Given the description of an element on the screen output the (x, y) to click on. 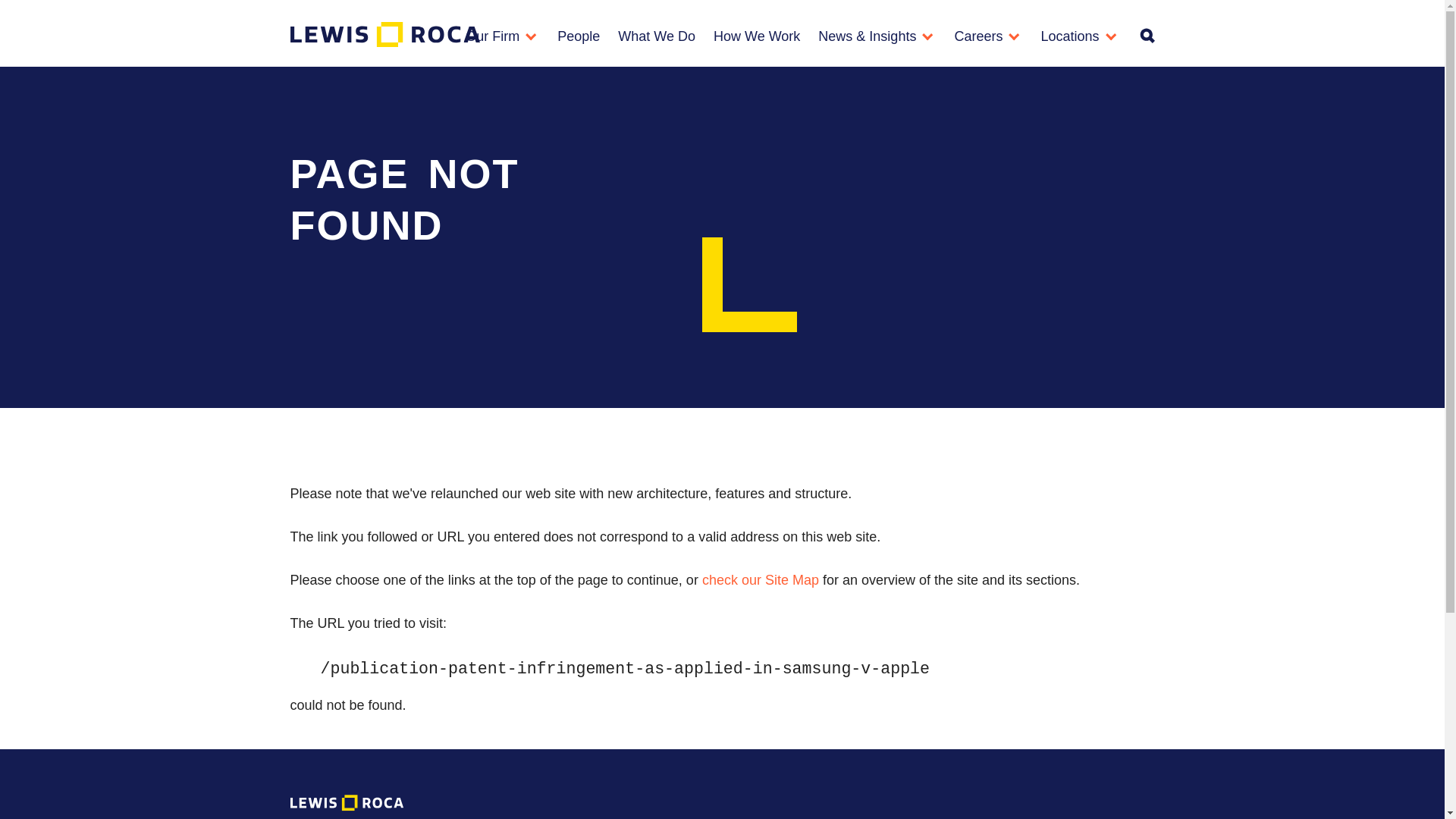
Main Menu (676, 17)
People (578, 43)
Menu (676, 17)
Our Firm (502, 43)
How We Work (756, 43)
Main Content (669, 17)
Careers (987, 43)
What We Do (656, 43)
Locations (1078, 43)
